Given the description of an element on the screen output the (x, y) to click on. 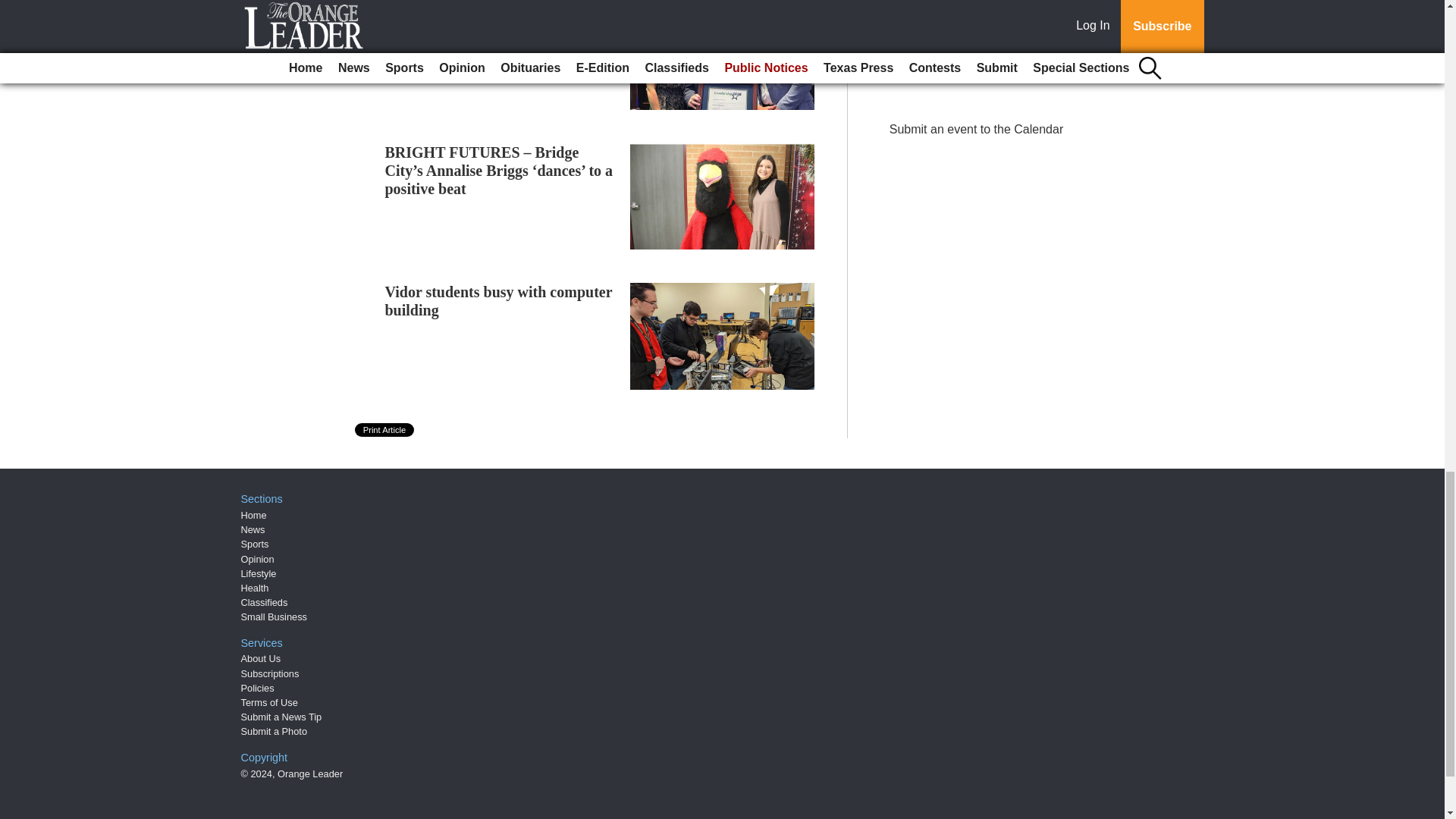
Orangefield ISD trustee finalizes leadership training (490, 26)
Orangefield ISD trustee finalizes leadership training (490, 26)
Vidor students busy with computer building (498, 300)
Print Article (384, 429)
Vidor students busy with computer building (498, 300)
